Given the description of an element on the screen output the (x, y) to click on. 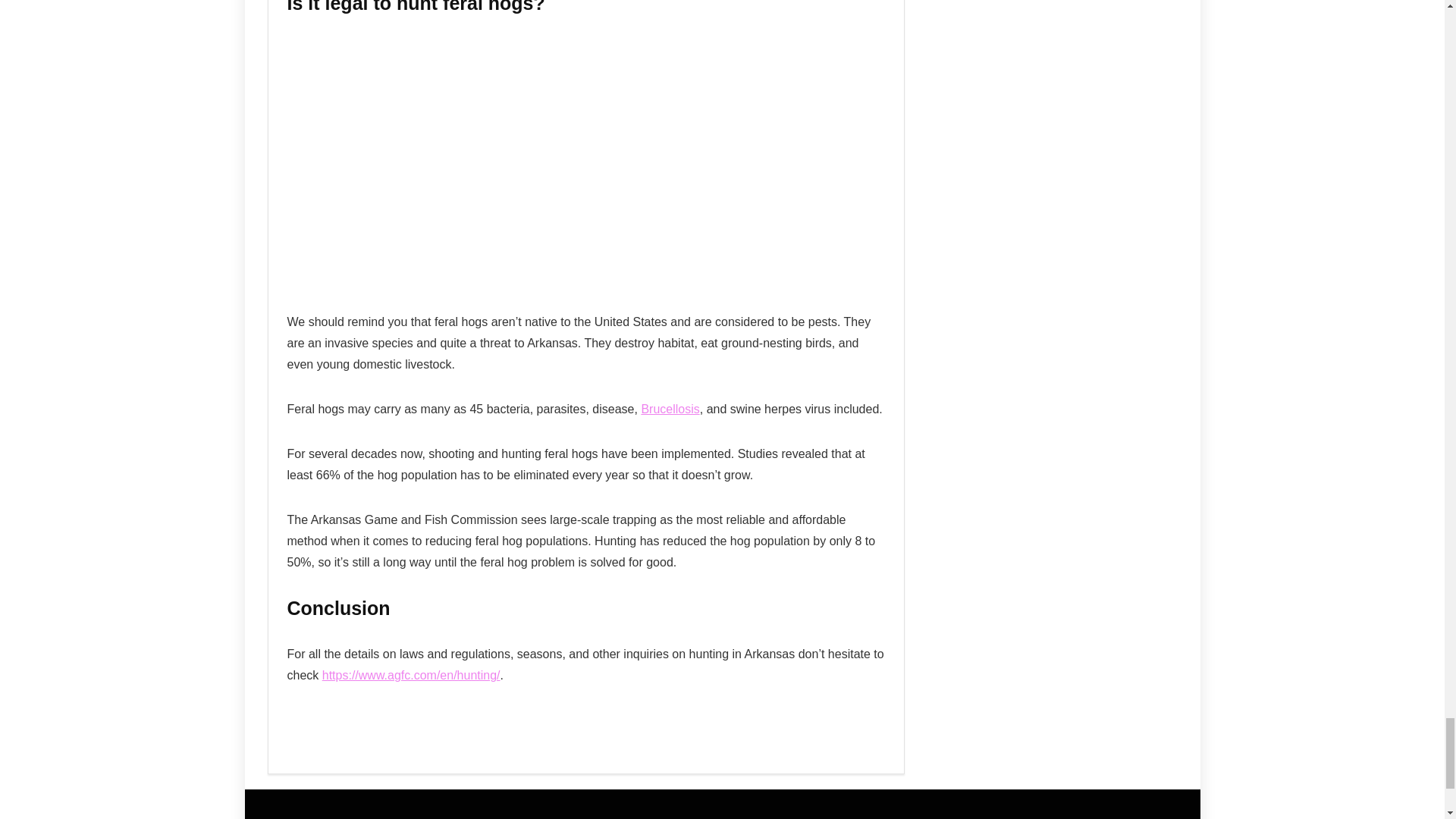
Brucellosis (669, 408)
